Given the description of an element on the screen output the (x, y) to click on. 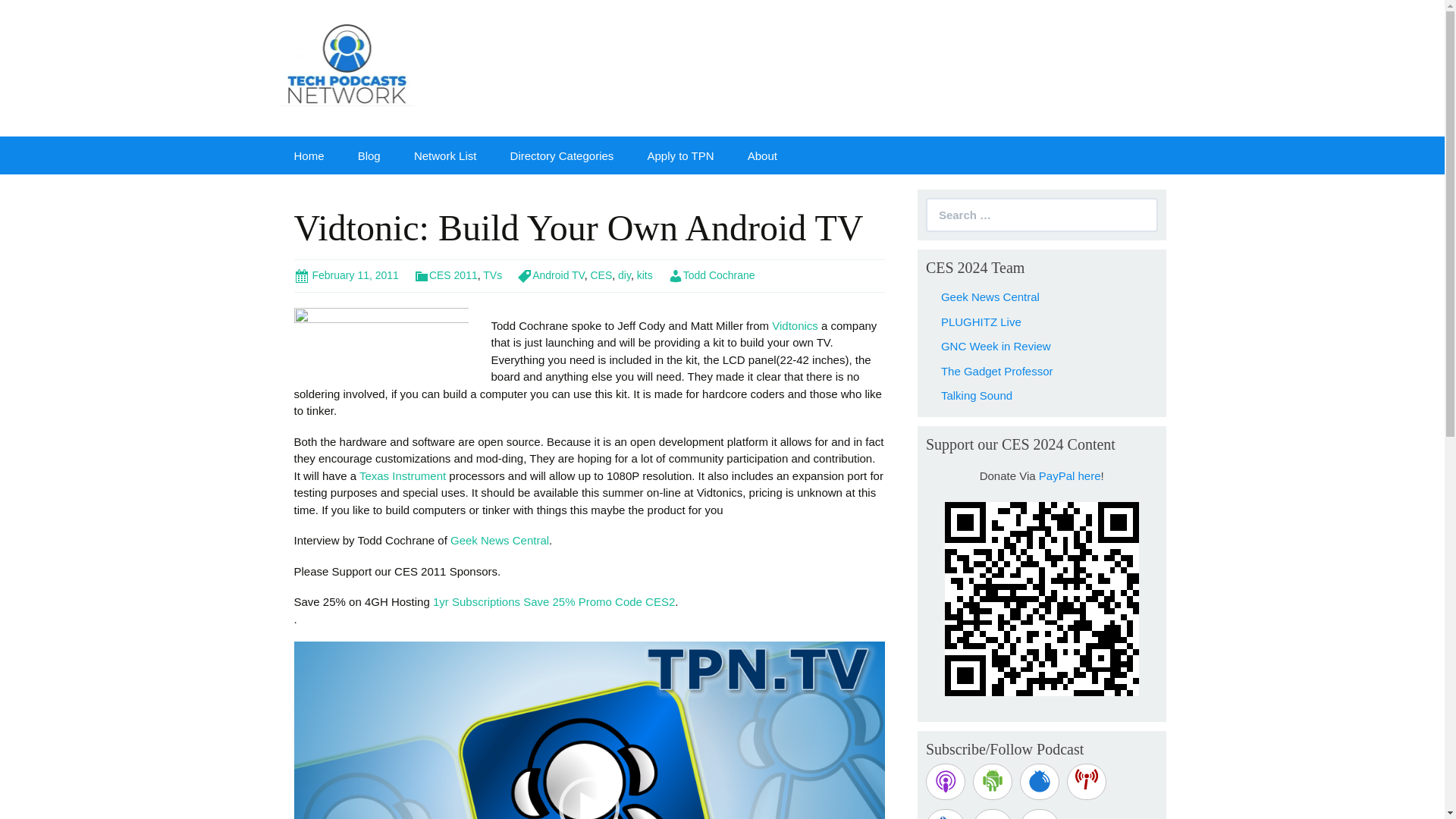
Search (23, 11)
PLUGHITZ Live (981, 321)
Talking Sound (975, 395)
Search for: (1041, 214)
kits (644, 275)
February 11, 2011 (346, 275)
CES 2011 (445, 275)
GNC Week in Review (995, 345)
Home (309, 155)
Subscribe on Blubrry (1039, 781)
Geek News Central (989, 296)
Network List (445, 155)
CES (600, 275)
Apply to TPN (680, 155)
